Given the description of an element on the screen output the (x, y) to click on. 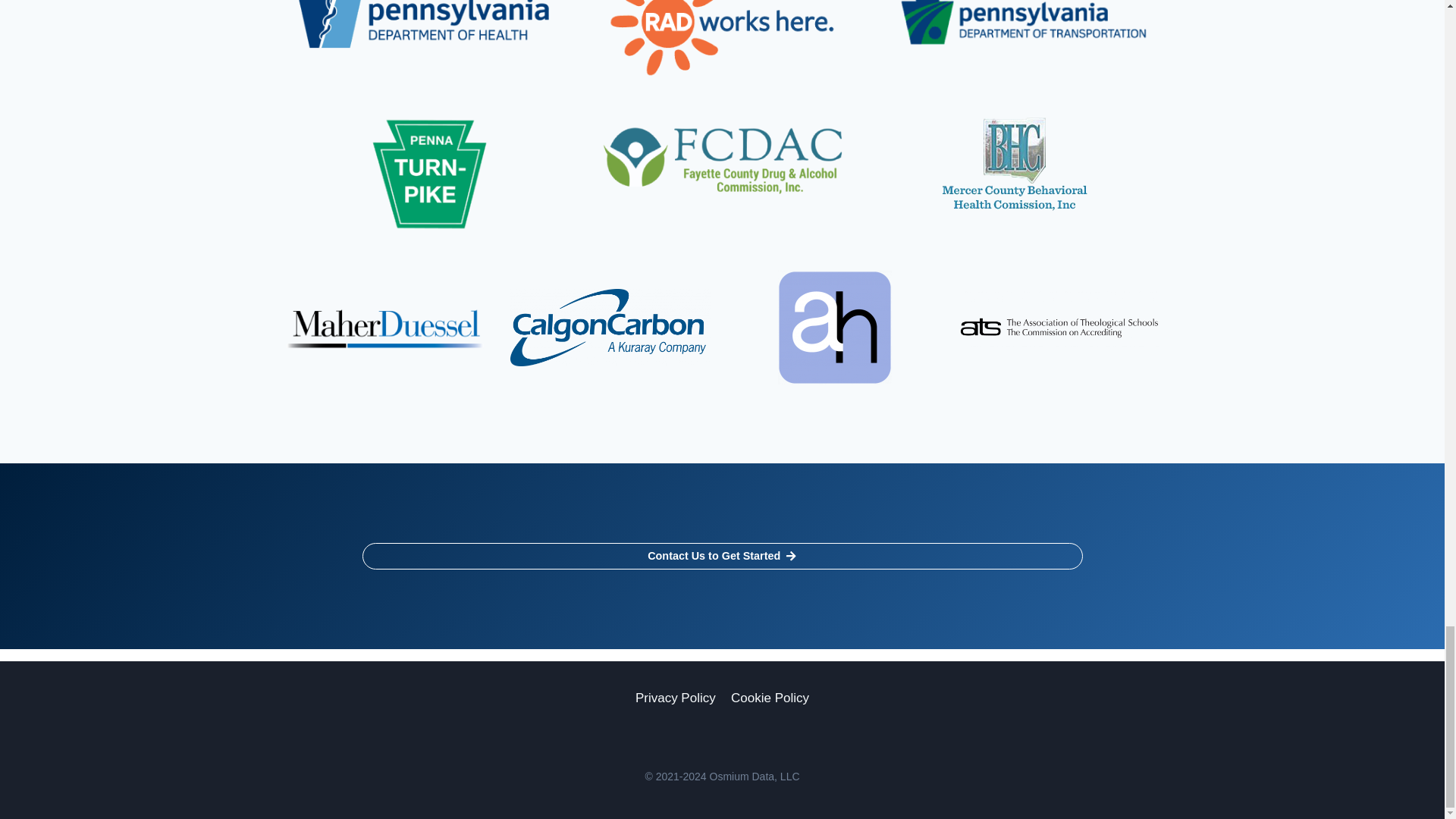
Privacy Policy (675, 697)
Cookie Policy (769, 697)
Contact Us to Get Started (722, 555)
